Given the description of an element on the screen output the (x, y) to click on. 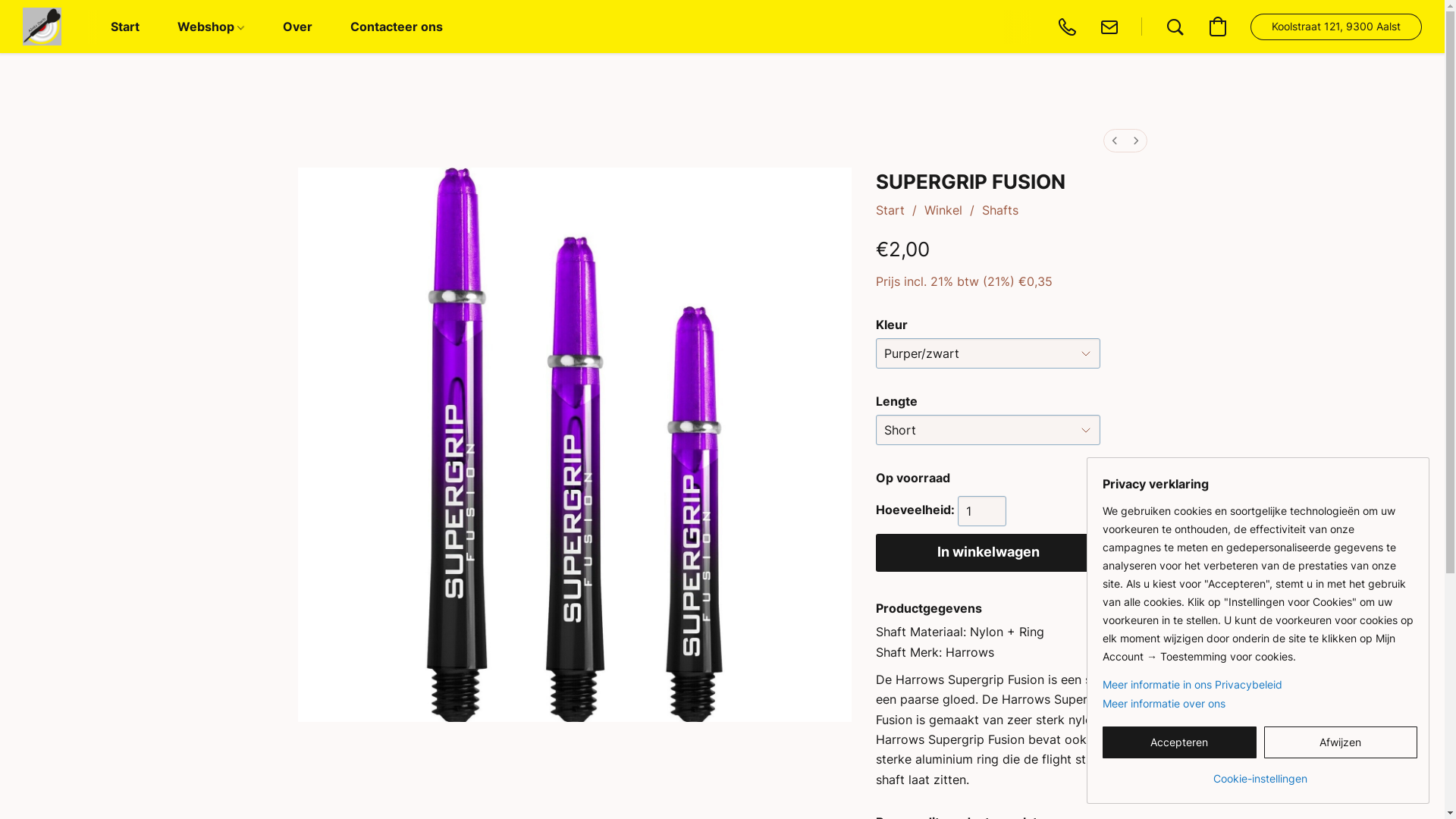
SUPERGRIP FUSION Element type: hover (574, 444)
Meer informatie in ons Privacybeleid Element type: text (1259, 684)
Webshop Element type: text (210, 26)
Shafts Element type: text (1000, 209)
+32 477 55 11 14  Element type: hover (1066, 26)
In winkelwagen Element type: text (987, 552)
Cookie-instellingen Element type: text (1259, 772)
Afwijzen Element type: text (1340, 742)
Start Element type: text (889, 209)
Zoeken op website Element type: hover (1175, 26)
Winkel Element type: text (943, 209)
Contacteer ons Element type: text (396, 26)
Koolstraat 121, 9300 Aalst Element type: text (1335, 26)
alostadarts@gmail.com Element type: hover (1109, 26)
Meer informatie over ons Element type: text (1259, 703)
Ga naar winkelwagen Element type: hover (1217, 26)
Over Element type: text (297, 26)
Start Element type: text (124, 26)
Accepteren Element type: text (1179, 742)
